Given the description of an element on the screen output the (x, y) to click on. 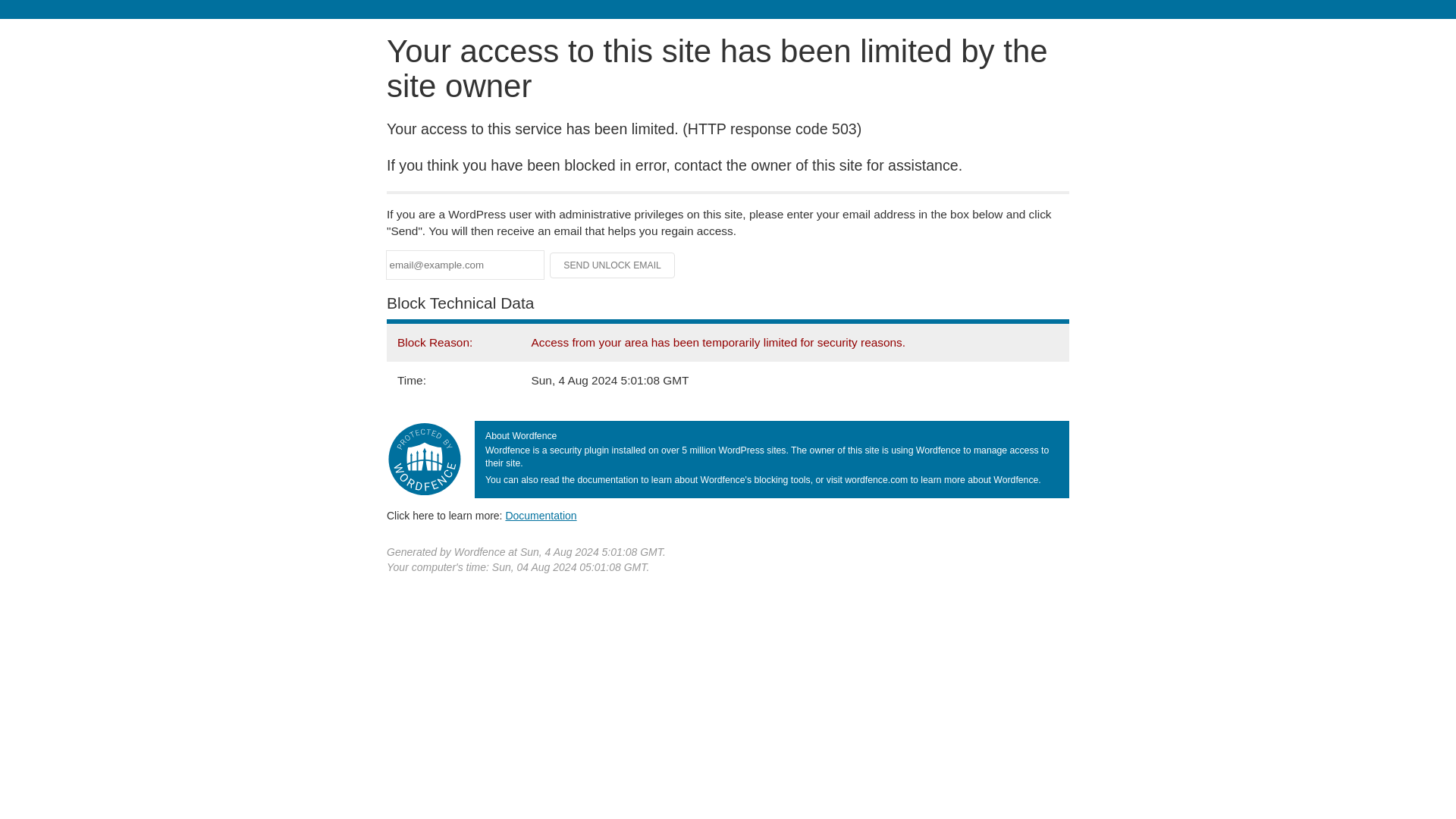
Send Unlock Email (612, 265)
Send Unlock Email (612, 265)
Documentation (540, 515)
